Given the description of an element on the screen output the (x, y) to click on. 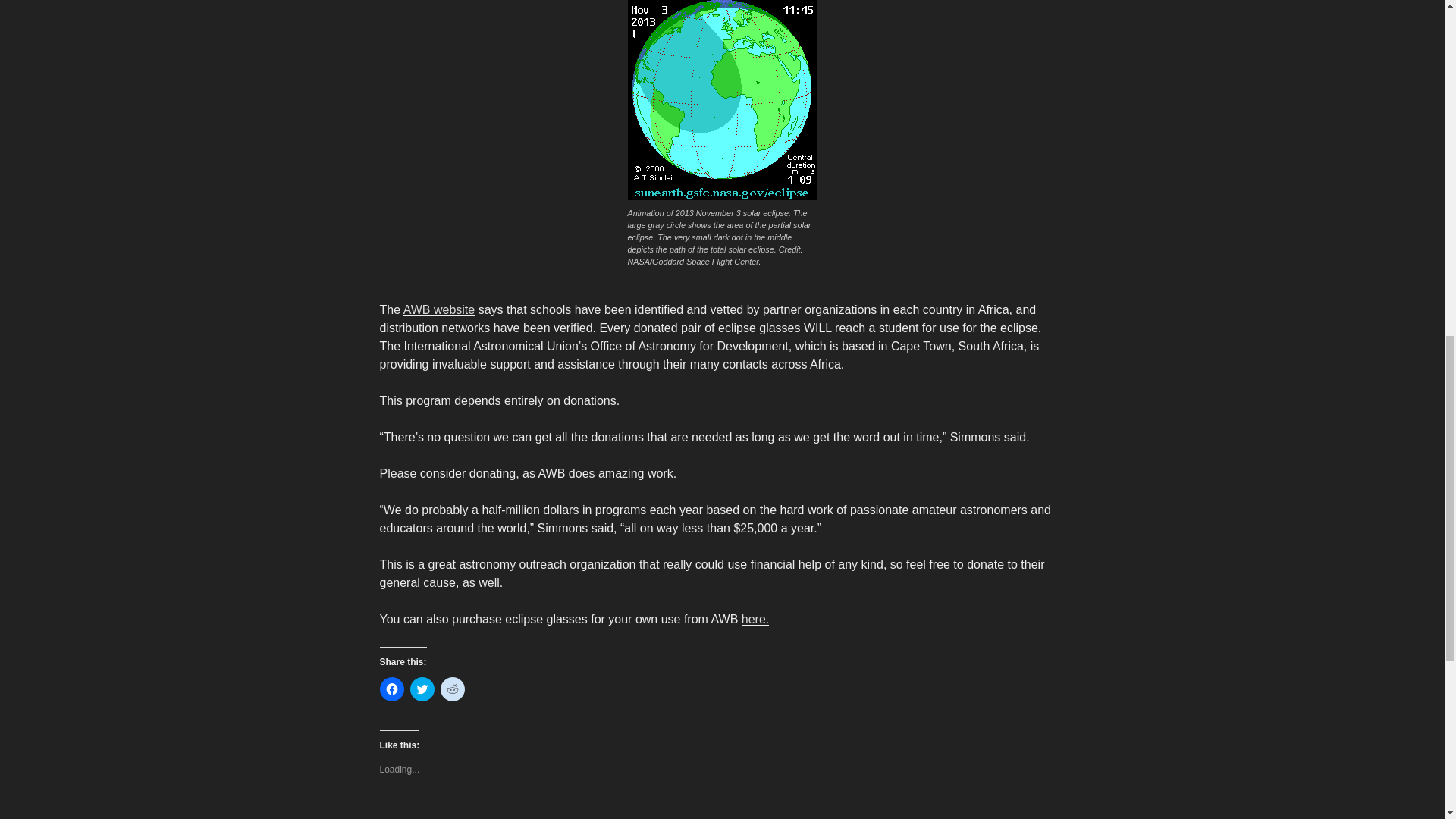
AWB website (439, 309)
Click to share on Facebook (390, 689)
Click to share on Reddit (451, 689)
here. (754, 618)
Click to share on Twitter (421, 689)
